Given the description of an element on the screen output the (x, y) to click on. 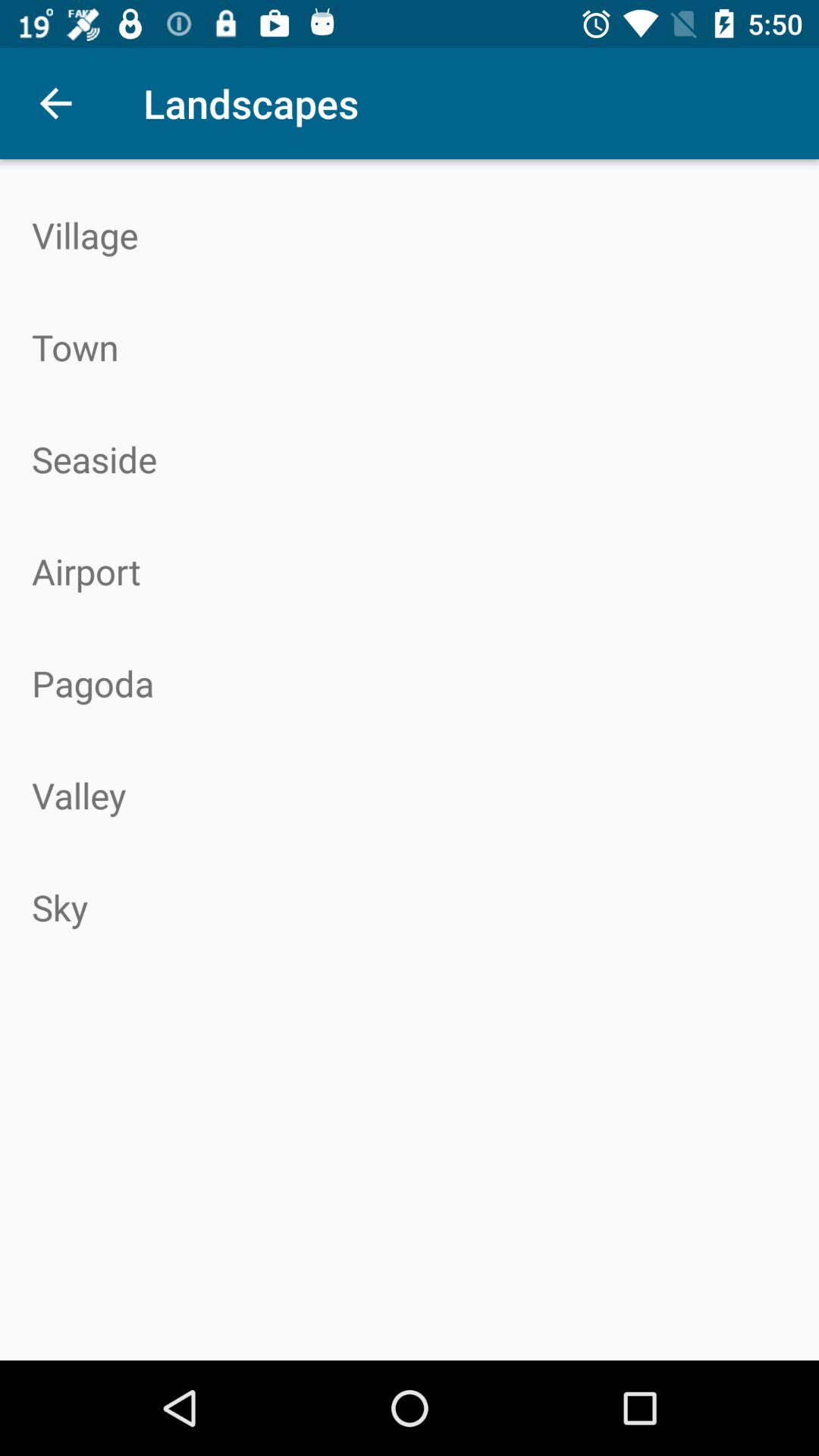
press the icon above seaside item (409, 347)
